Given the description of an element on the screen output the (x, y) to click on. 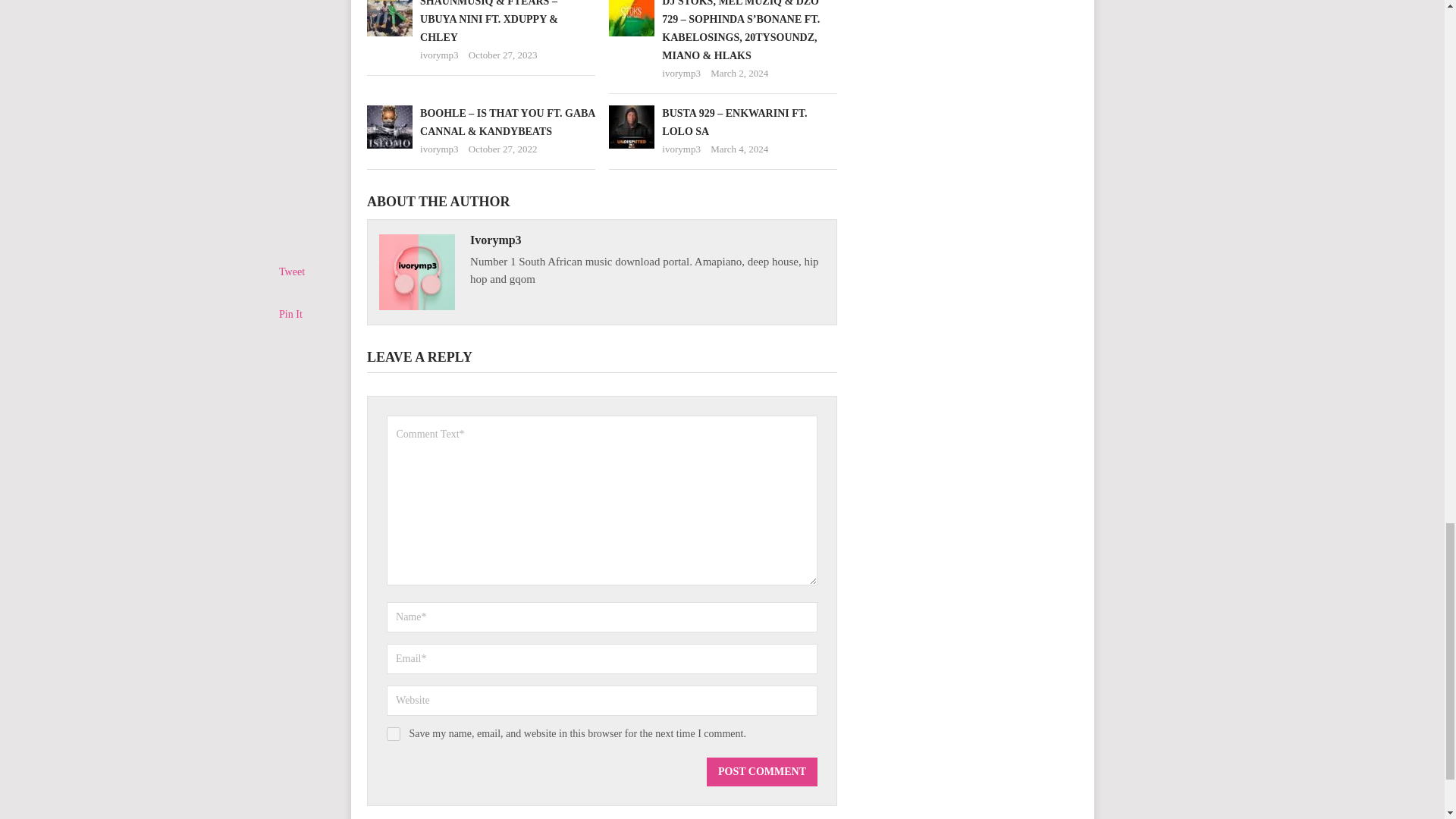
Post Comment (761, 771)
yes (393, 734)
Posts by ivorymp3 (439, 54)
